Given the description of an element on the screen output the (x, y) to click on. 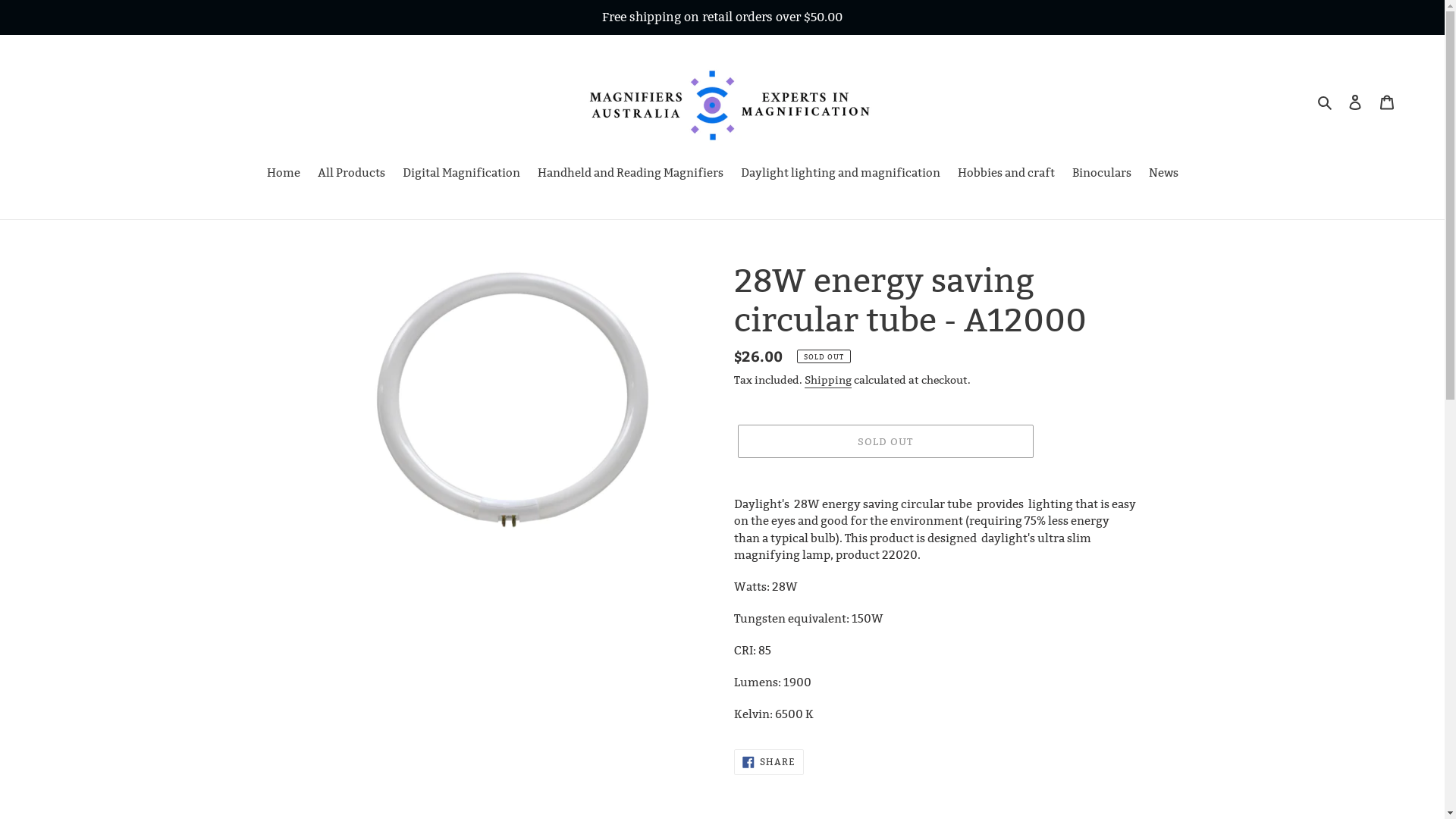
Shipping Element type: text (826, 380)
Home Element type: text (283, 174)
SOLD OUT Element type: text (884, 441)
Search Element type: text (1325, 101)
Digital Magnification Element type: text (460, 174)
SHARE
SHARE ON FACEBOOK Element type: text (769, 762)
Hobbies and craft Element type: text (1005, 174)
Log in Element type: text (1355, 101)
Handheld and Reading Magnifiers Element type: text (629, 174)
All Products Element type: text (350, 174)
Cart Element type: text (1386, 101)
News Element type: text (1162, 174)
Binoculars Element type: text (1101, 174)
Daylight lighting and magnification Element type: text (839, 174)
